Given the description of an element on the screen output the (x, y) to click on. 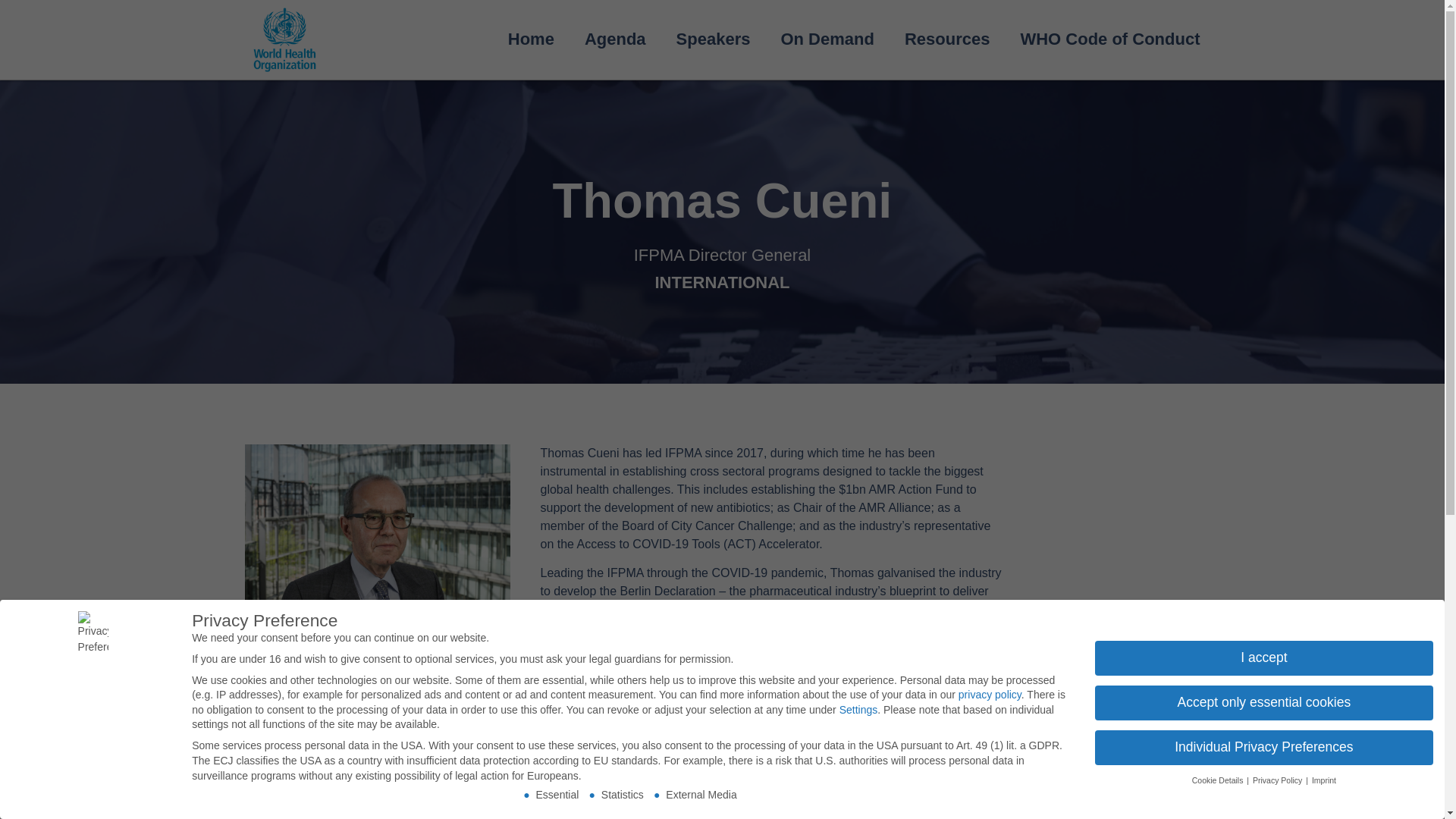
Agenda (615, 38)
On Demand (826, 38)
Speakers (713, 38)
Open Cookie Preferences (32, 799)
WHO Code of Conduct (1109, 38)
Home (531, 38)
Resources (947, 38)
